Given the description of an element on the screen output the (x, y) to click on. 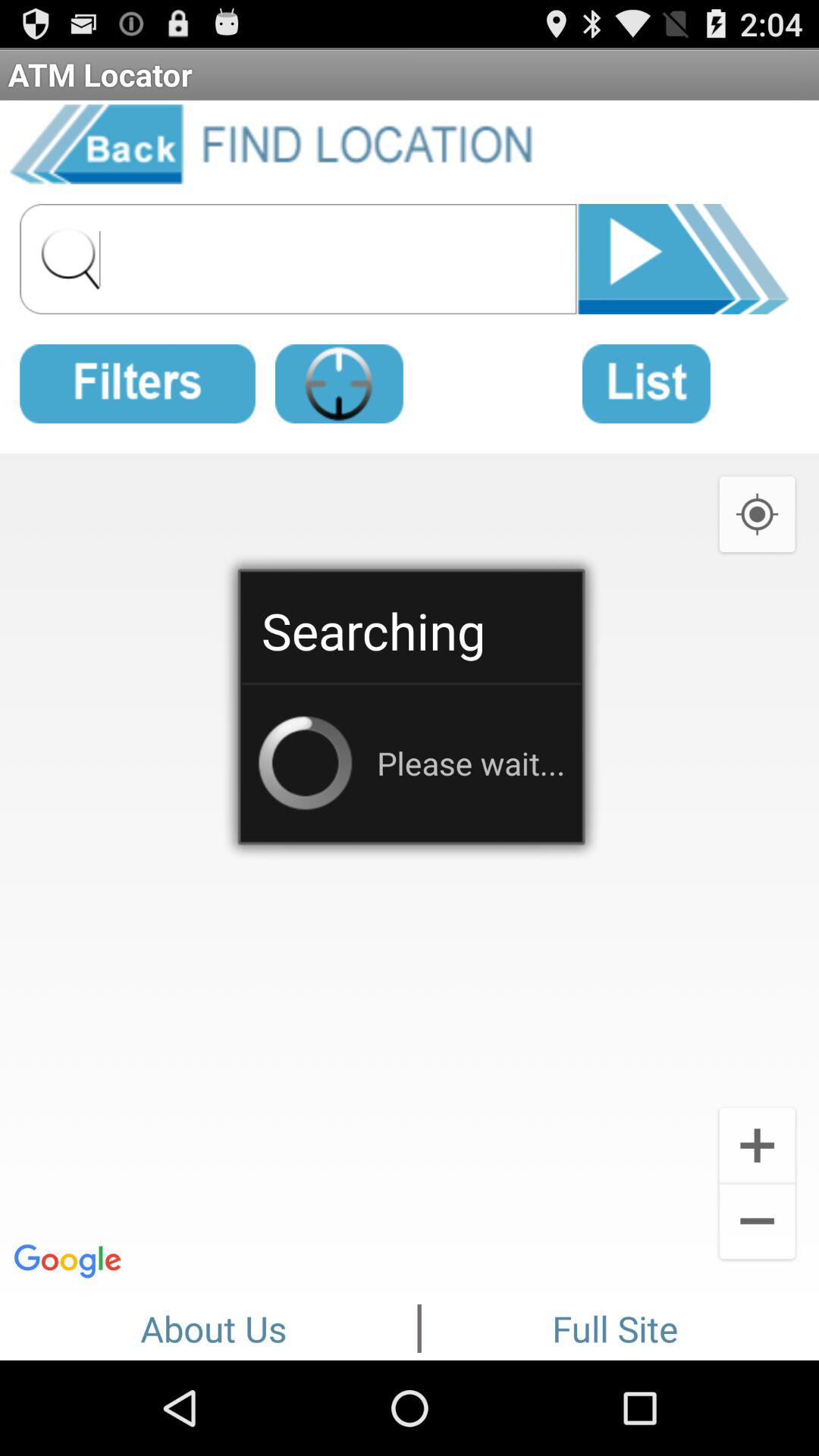
open the item below atm locator app (280, 141)
